Given the description of an element on the screen output the (x, y) to click on. 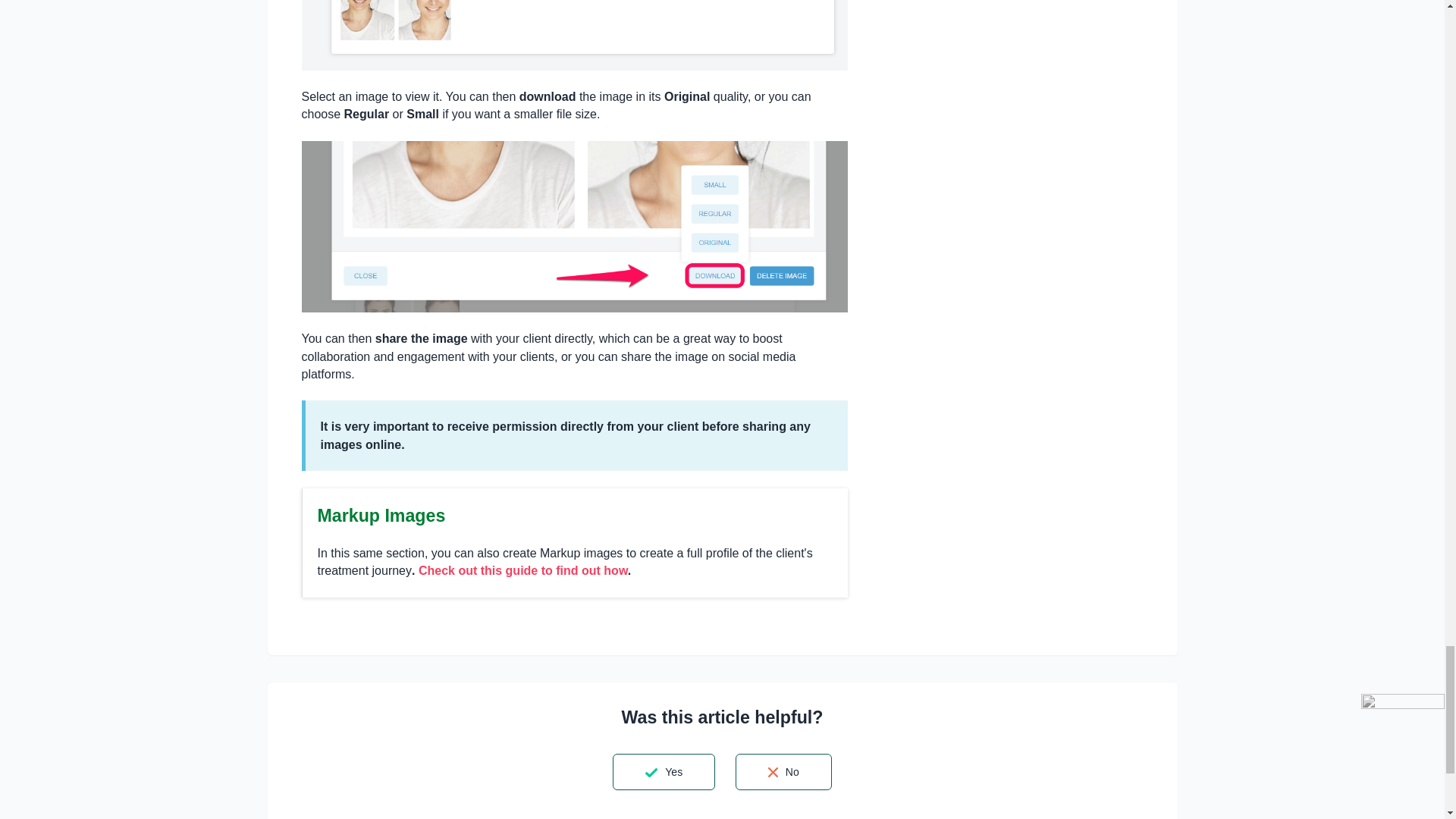
Yes (663, 770)
Yes (663, 771)
Check out this guide to find out how (523, 570)
No (783, 771)
No (783, 770)
